Given the description of an element on the screen output the (x, y) to click on. 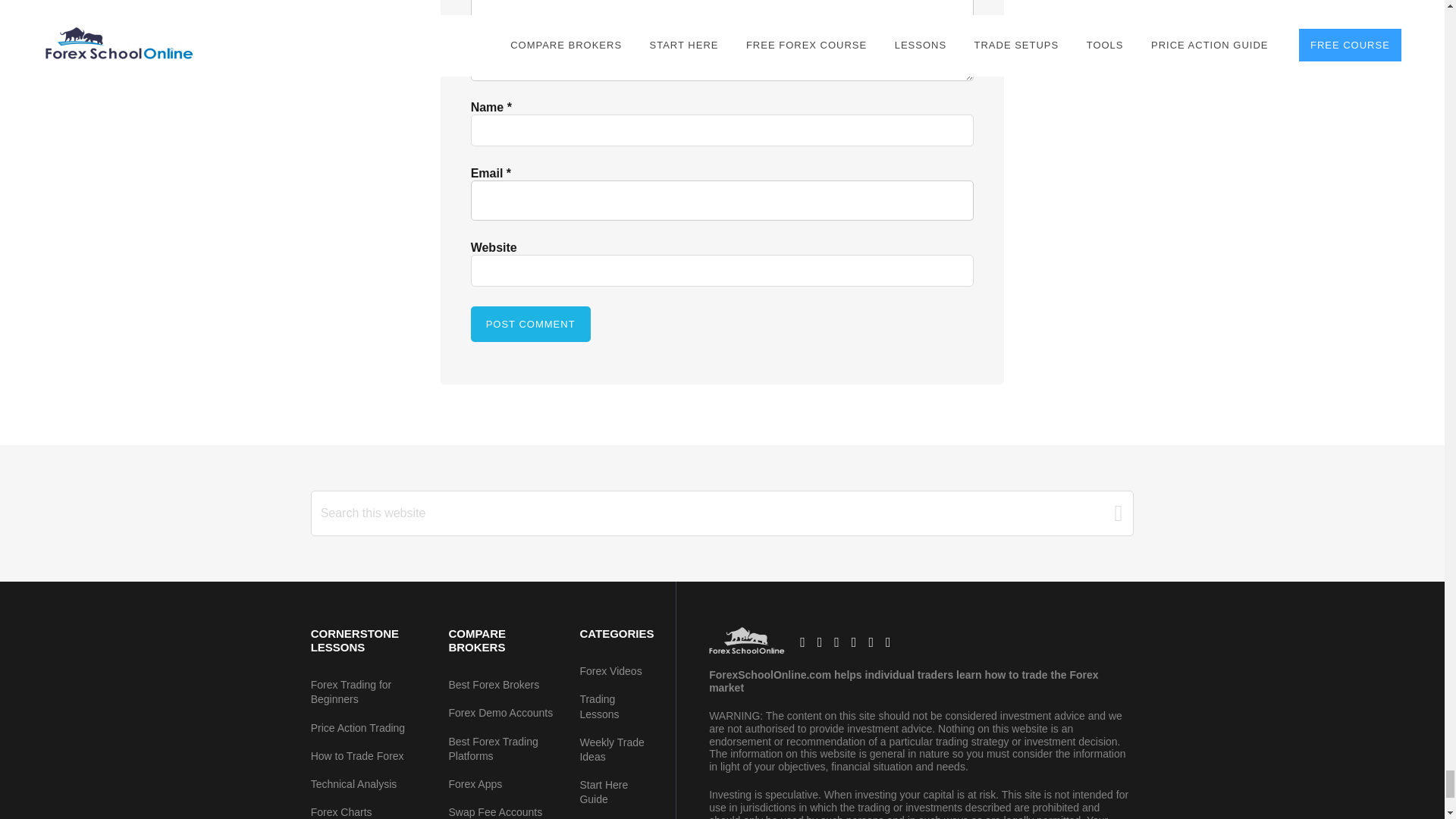
Post Comment (530, 324)
